Given the description of an element on the screen output the (x, y) to click on. 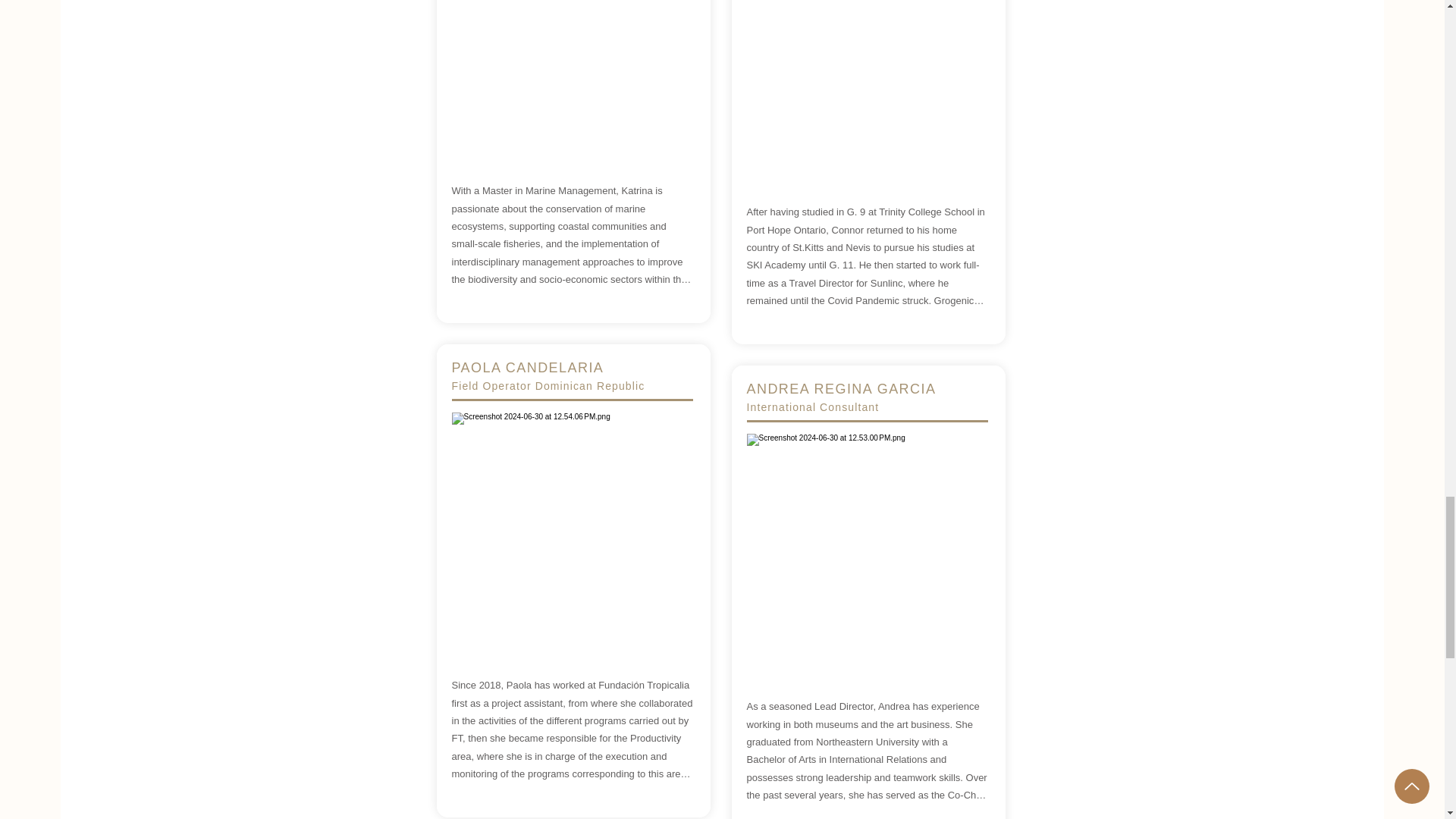
Paola Candelaria (572, 532)
Connor Greaux-Taylor (866, 90)
Andrea Garcia-Mendez (866, 554)
